Given the description of an element on the screen output the (x, y) to click on. 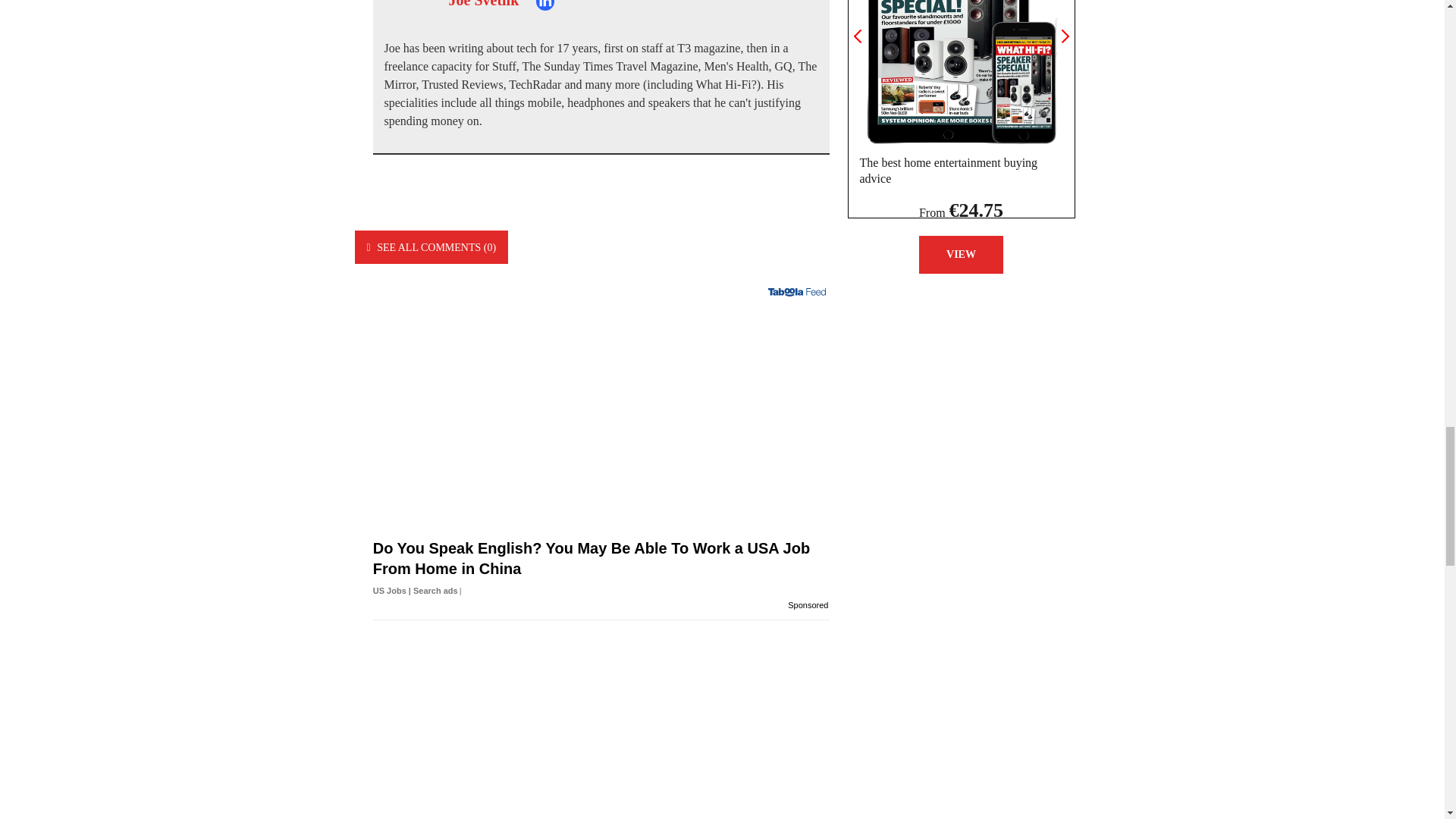
Sonos and IKEA's Symfonisk bookshelf speaker gets an update (600, 727)
